Given the description of an element on the screen output the (x, y) to click on. 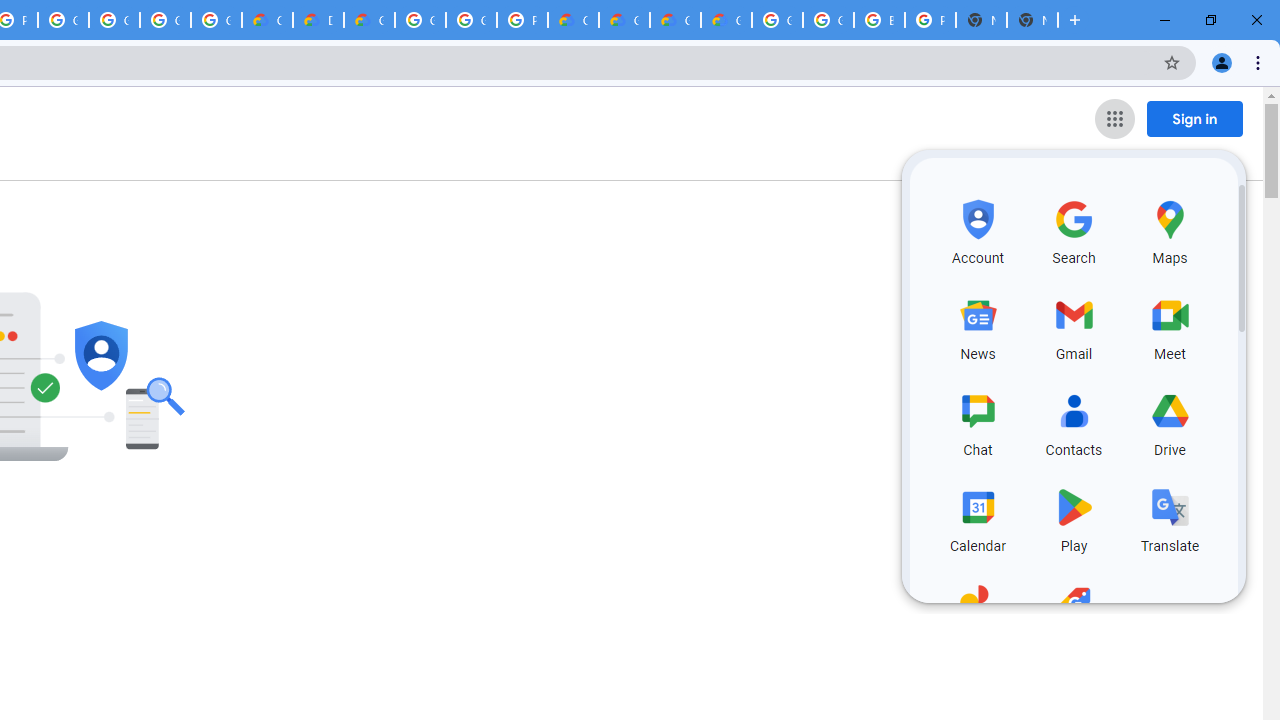
Chrome (1260, 62)
New Tab (1075, 20)
Google Workspace - Specific Terms (164, 20)
Restore (1210, 20)
Customer Care | Google Cloud (267, 20)
Minimize (1165, 20)
Google Cloud Pricing Calculator (624, 20)
New Tab (1032, 20)
Google Cloud Service Health (726, 20)
